Given the description of an element on the screen output the (x, y) to click on. 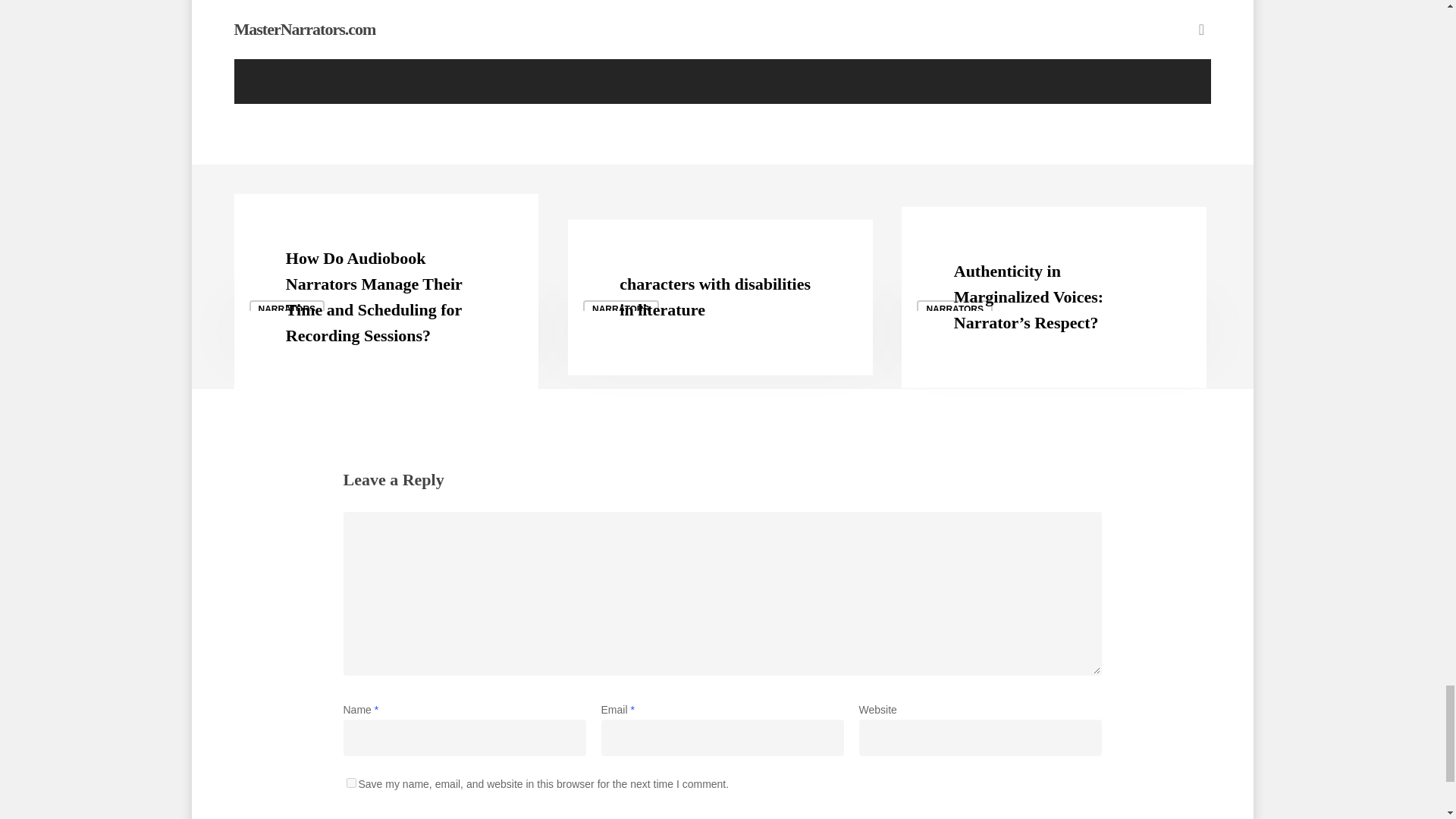
NARRATORS (621, 309)
NARRATORS (954, 309)
NARRATORS (286, 309)
yes (350, 782)
